Given the description of an element on the screen output the (x, y) to click on. 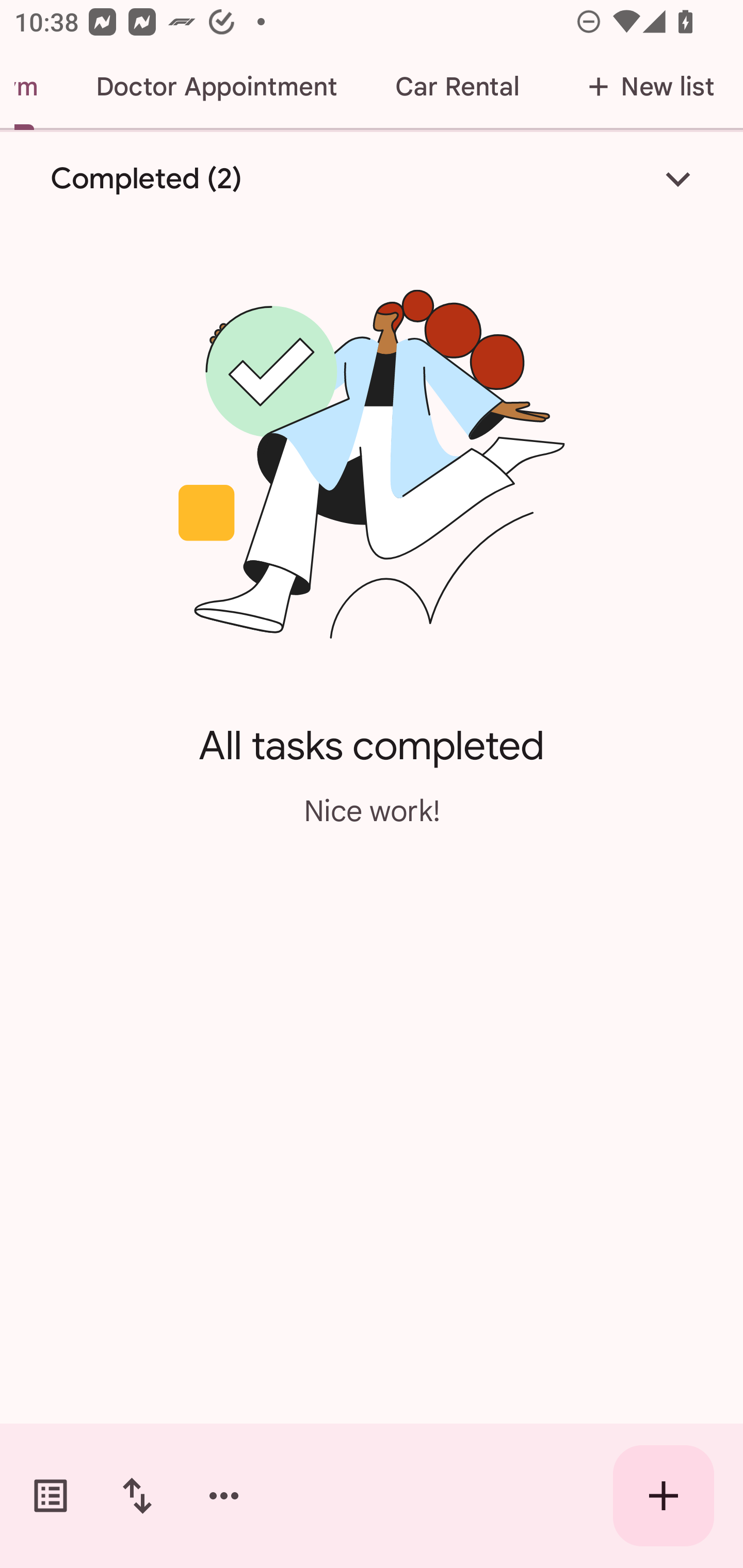
Doctor Appointment (215, 86)
Car Rental (456, 86)
New list (645, 86)
Completed (2) (371, 178)
Switch task lists (50, 1495)
Create new task (663, 1495)
Change sort order (136, 1495)
More options (223, 1495)
